Given the description of an element on the screen output the (x, y) to click on. 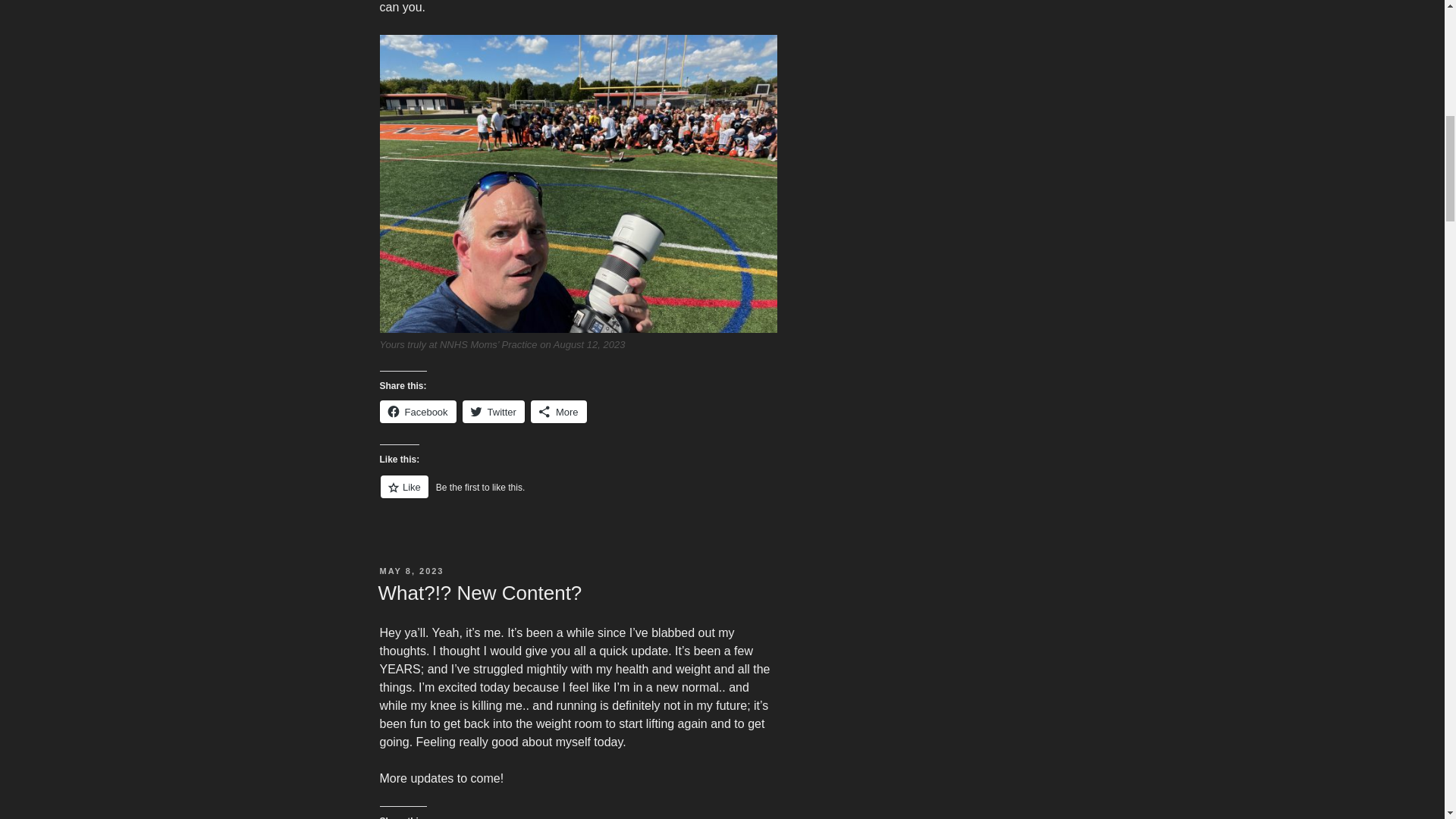
What?!? New Content? (478, 592)
Click to share on Facebook (416, 411)
Twitter (493, 411)
Facebook (416, 411)
Click to share on Twitter (493, 411)
More (558, 411)
Like or Reblog (577, 495)
MAY 8, 2023 (411, 570)
